Given the description of an element on the screen output the (x, y) to click on. 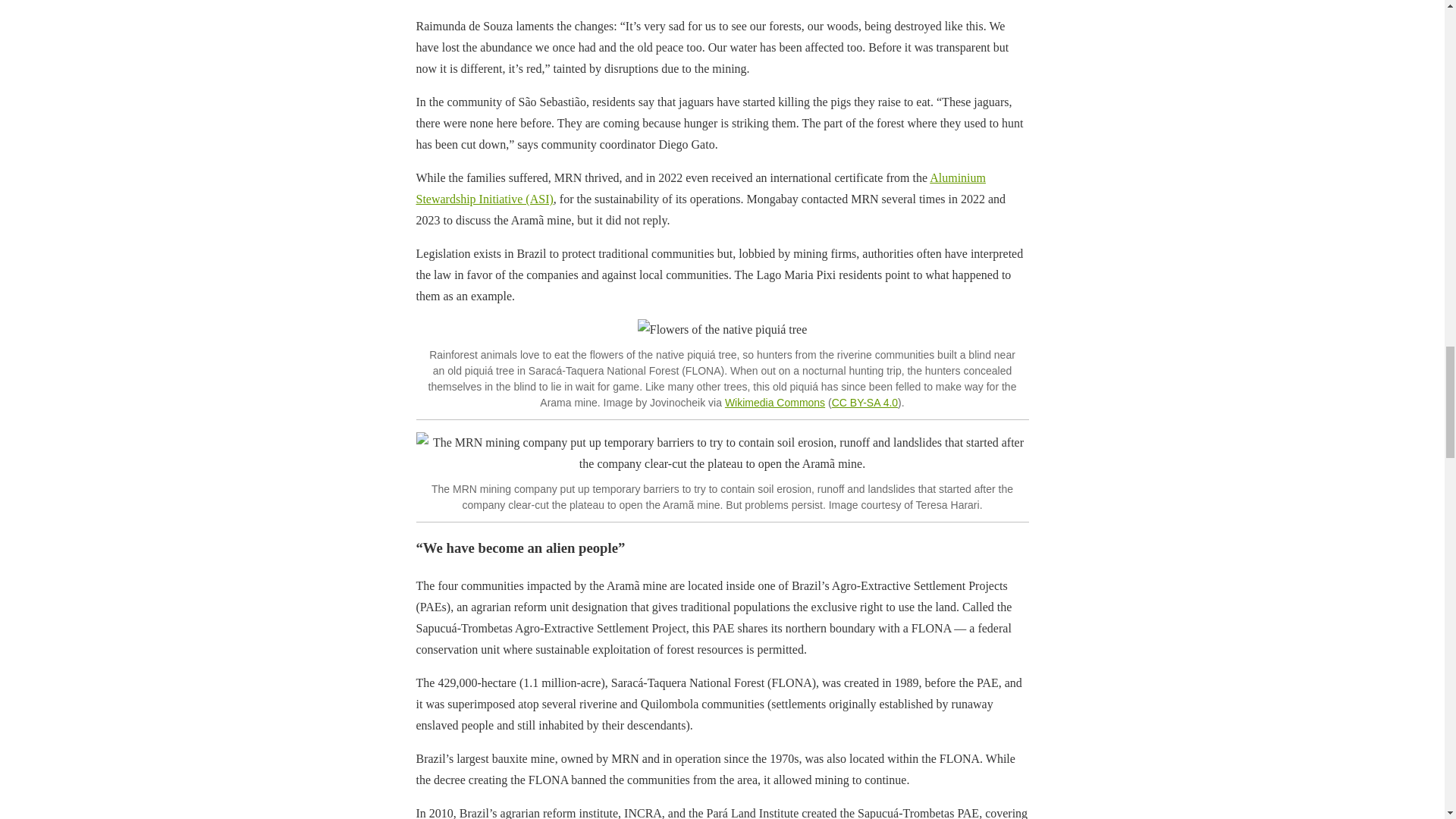
Wikimedia Commons (775, 402)
CC BY-SA 4.0 (864, 402)
